Given the description of an element on the screen output the (x, y) to click on. 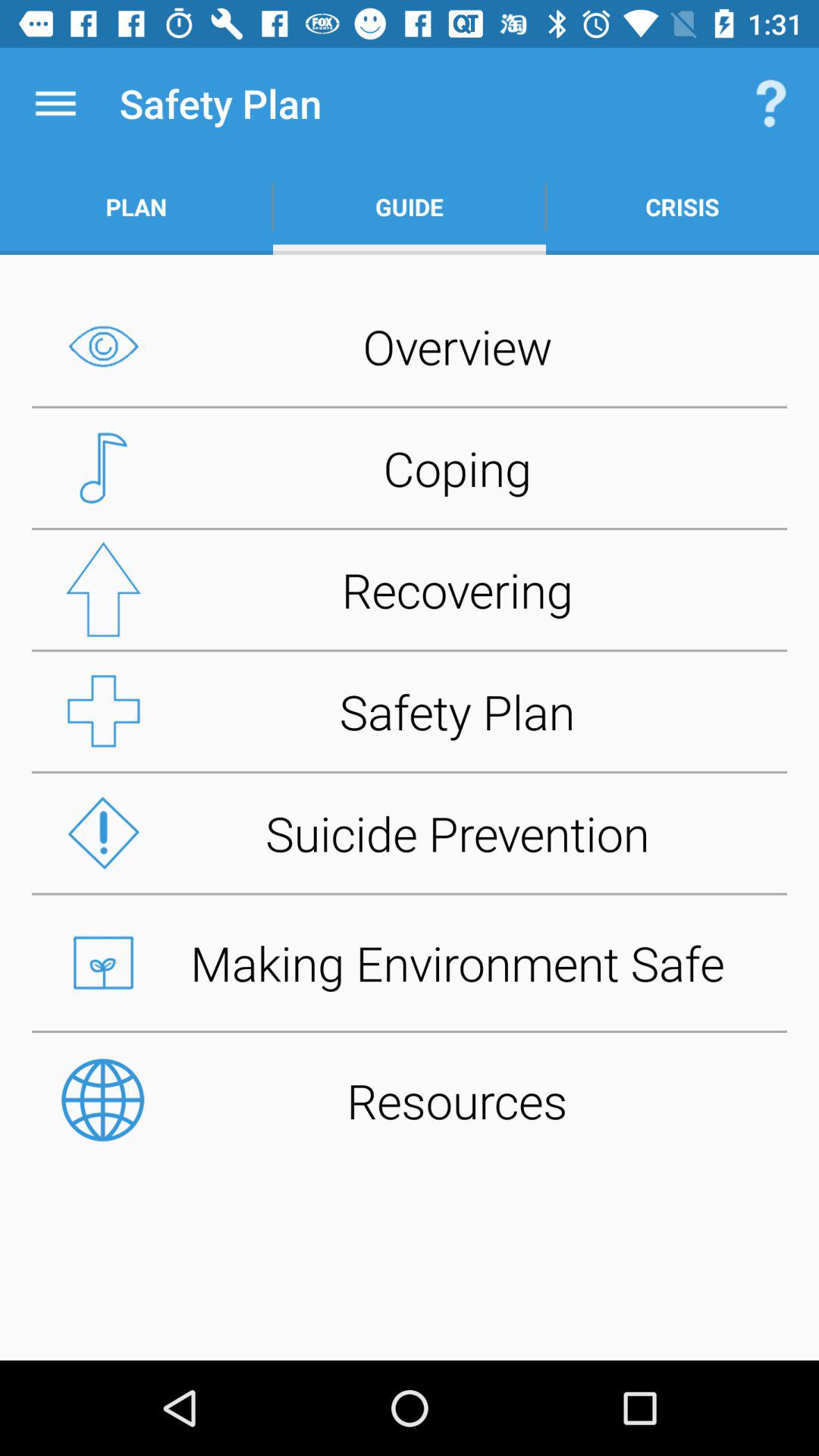
swipe until the coping icon (409, 467)
